Given the description of an element on the screen output the (x, y) to click on. 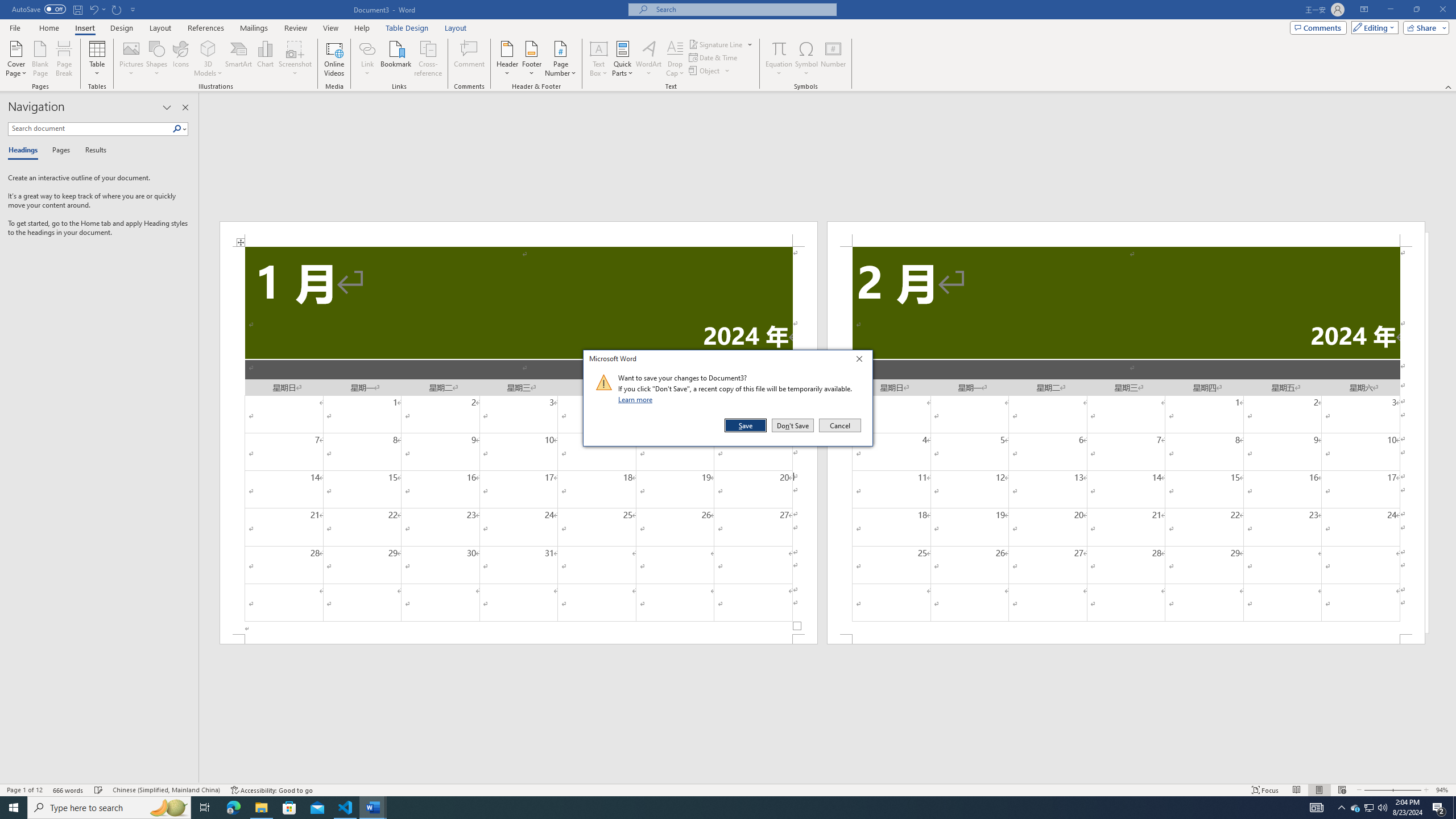
Object... (705, 69)
Bookmark... (396, 58)
SmartArt... (238, 58)
Page Number Page 1 of 12 (24, 790)
Symbol (806, 58)
